Given the description of an element on the screen output the (x, y) to click on. 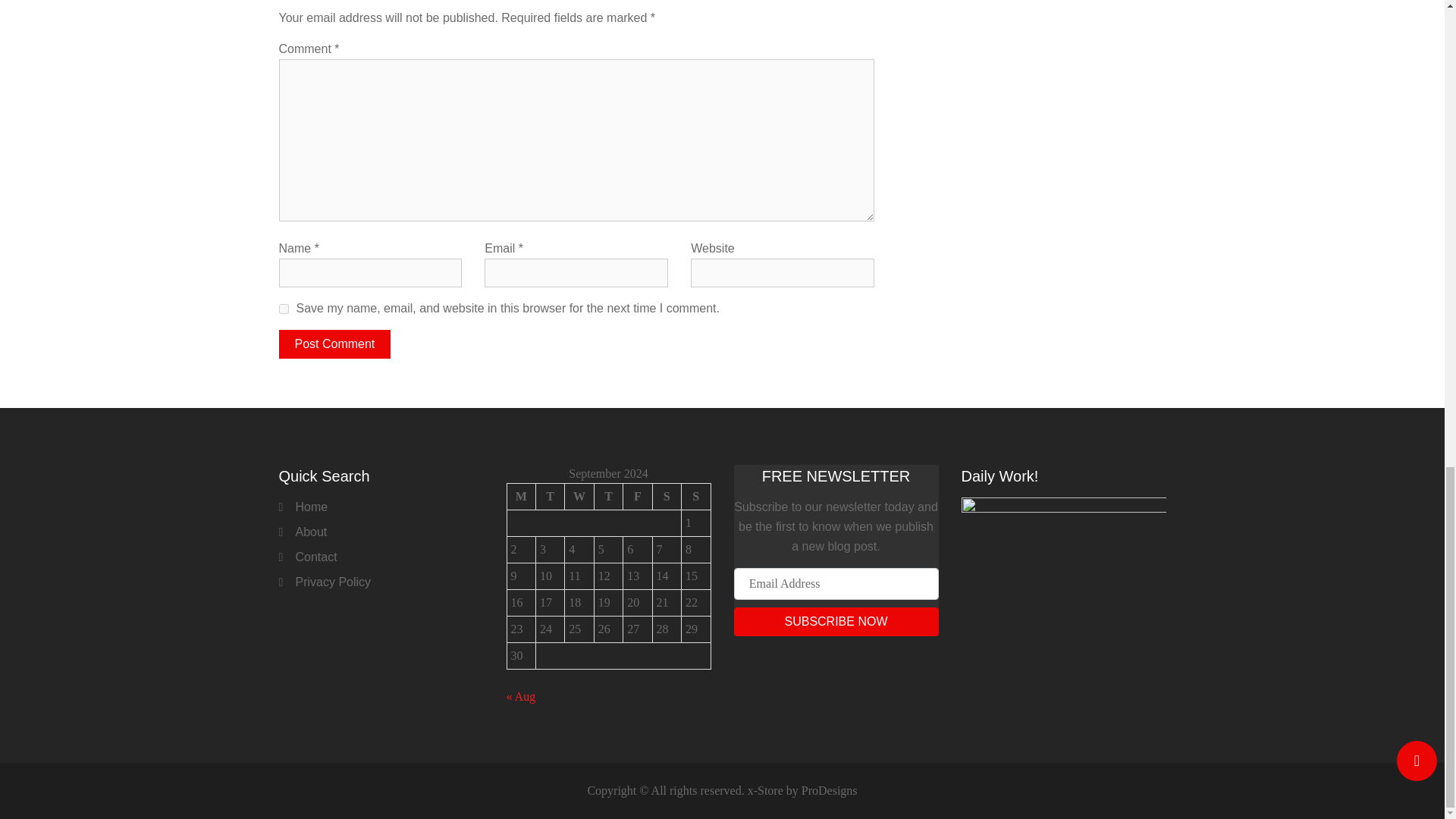
SUBSCRIBE NOW (836, 621)
yes (283, 308)
Home (312, 506)
SUBSCRIBE NOW (836, 621)
ProDesigns (829, 789)
Wednesday (579, 496)
Thursday (608, 496)
Saturday (666, 496)
Post Comment (335, 344)
Contact (316, 556)
